Given the description of an element on the screen output the (x, y) to click on. 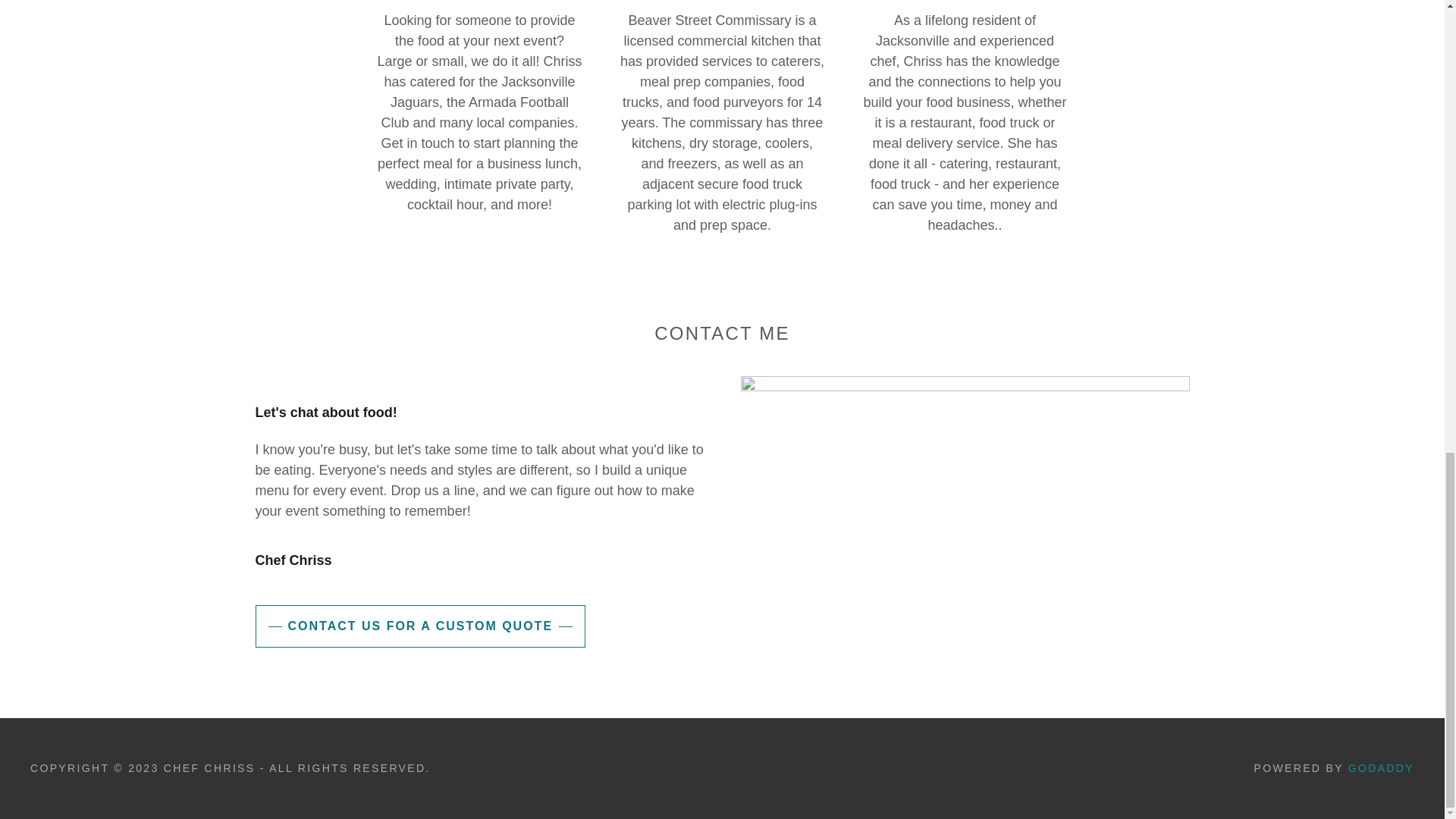
GODADDY (1380, 767)
ACCEPT (1274, 126)
CONTACT US FOR A CUSTOM QUOTE (419, 626)
